Given the description of an element on the screen output the (x, y) to click on. 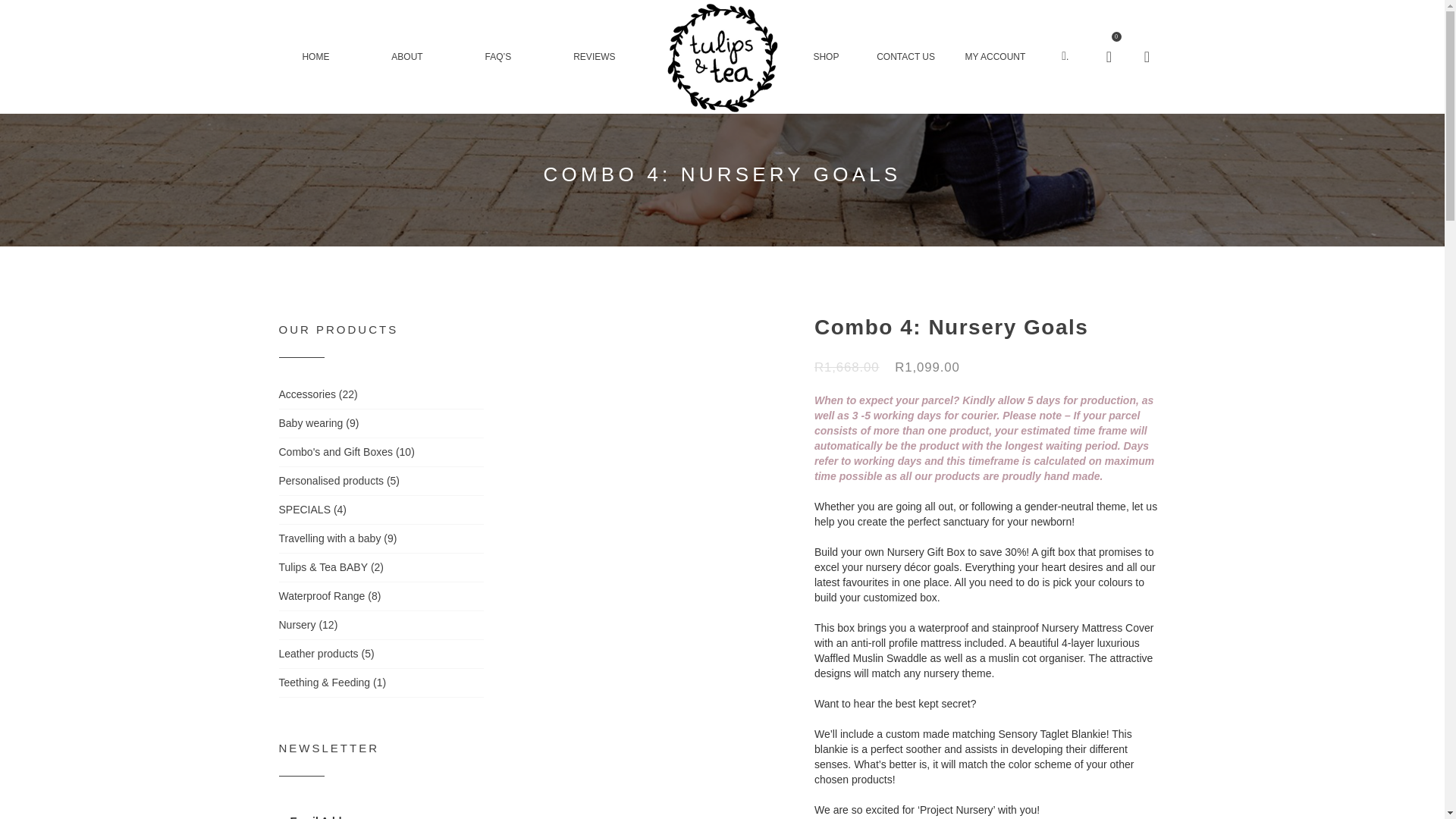
tulips and tea -  (721, 56)
